Given the description of an element on the screen output the (x, y) to click on. 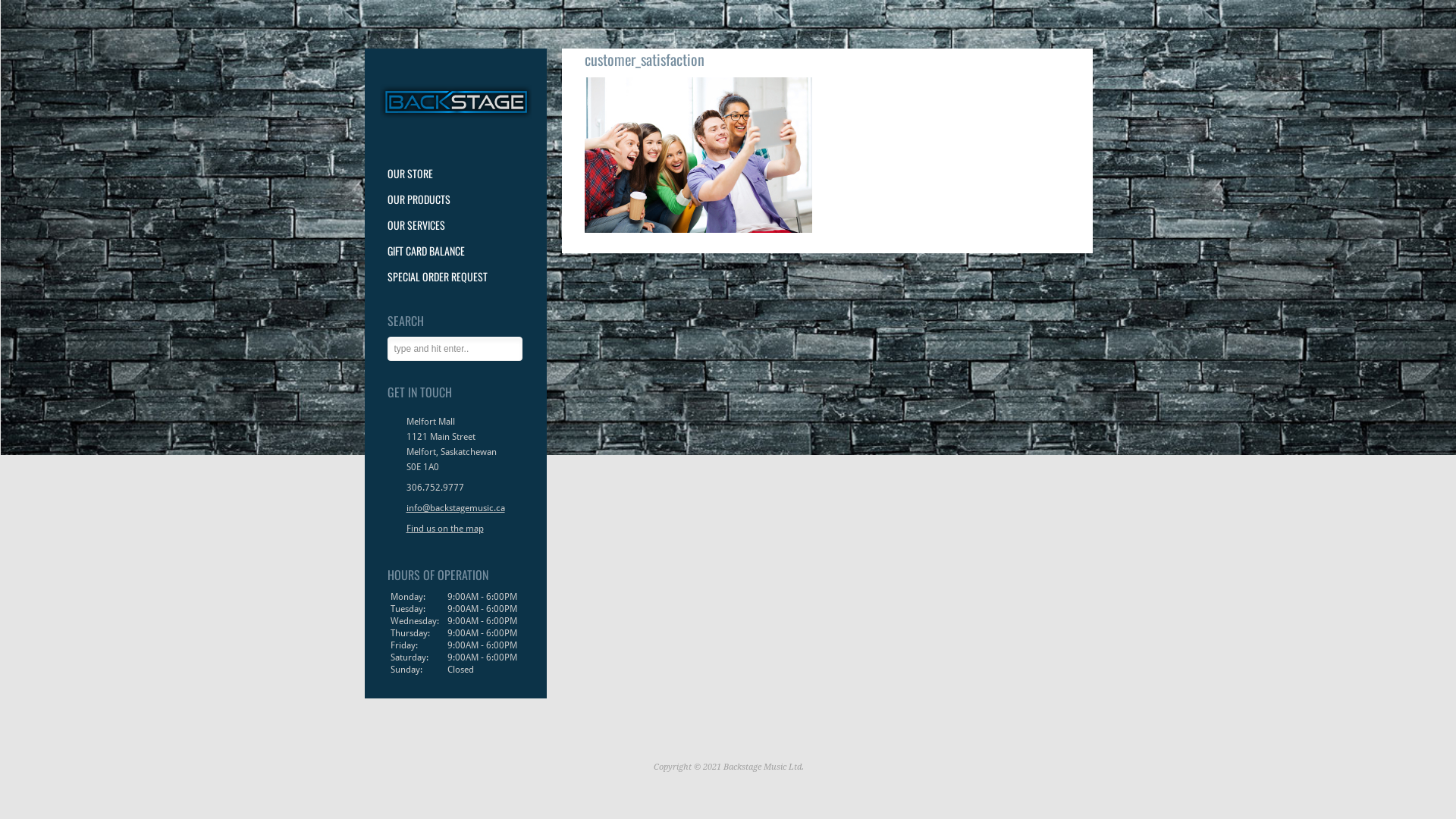
info@backstagemusic.ca Element type: text (455, 507)
OUR PRODUCTS Element type: text (454, 199)
OUR SERVICES Element type: text (454, 224)
Find us on the map Element type: text (455, 528)
OUR STORE Element type: text (454, 173)
Backstage Element type: hover (454, 121)
GIFT CARD BALANCE Element type: text (454, 250)
SPECIAL ORDER REQUEST Element type: text (454, 276)
